Given the description of an element on the screen output the (x, y) to click on. 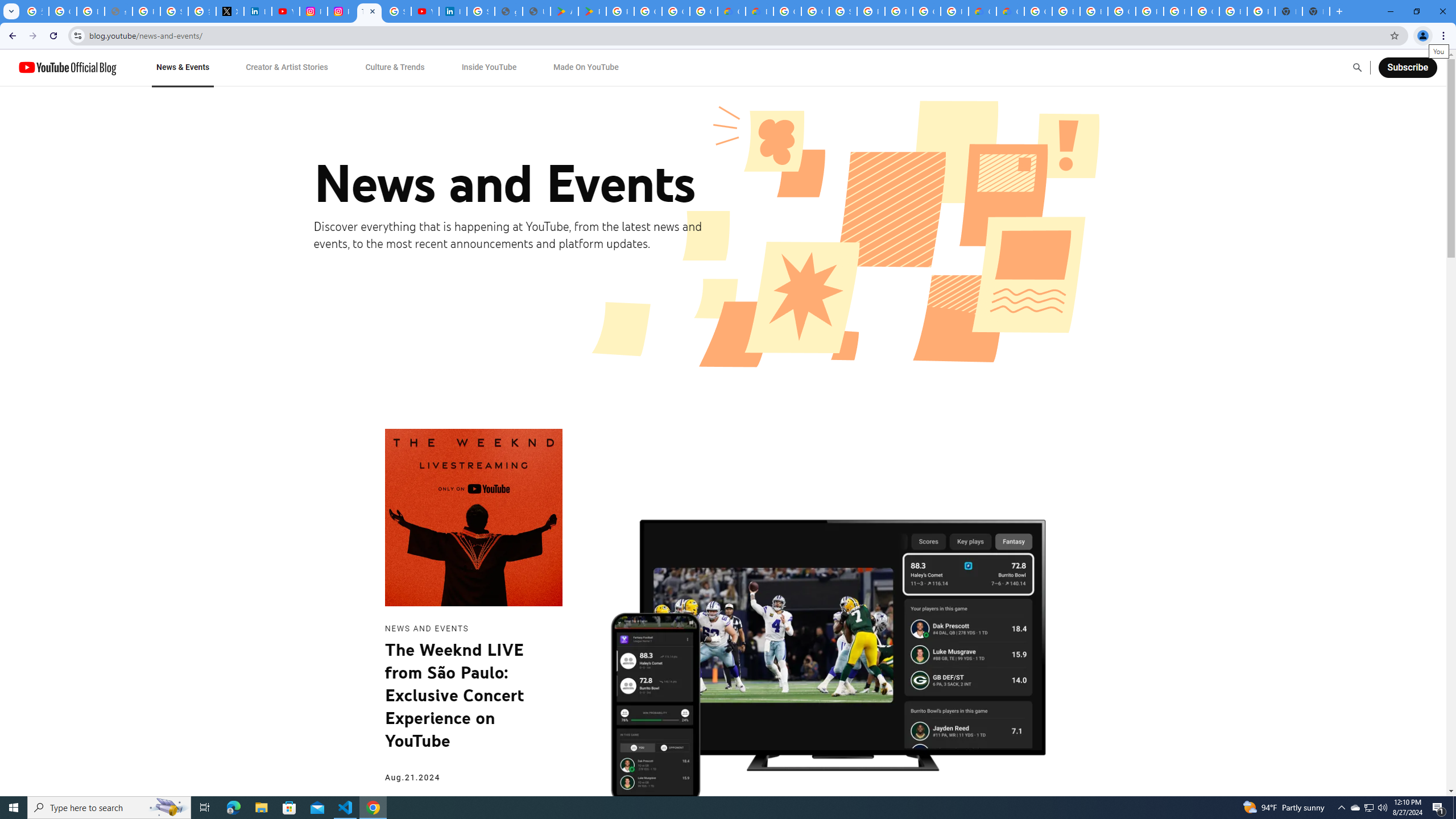
PAW Patrol Rescue World - Apps on Google Play (592, 11)
Made On YouTube (585, 67)
Google Cloud Platform (787, 11)
Browse Chrome as a guest - Computer - Google Chrome Help (1065, 11)
